Given the description of an element on the screen output the (x, y) to click on. 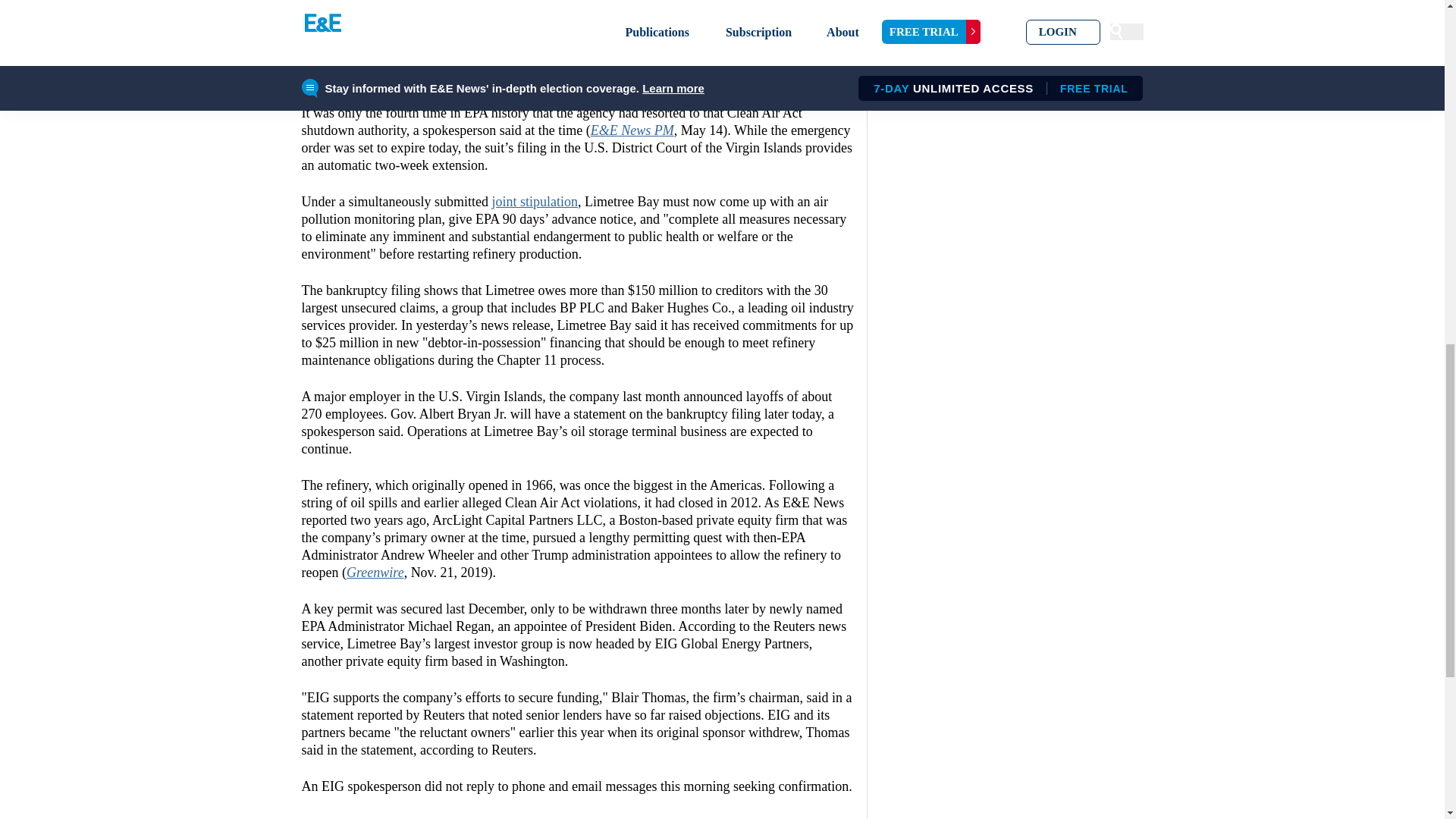
Greenwire (375, 572)
joint stipulation (535, 201)
lawsuit (401, 23)
